Given the description of an element on the screen output the (x, y) to click on. 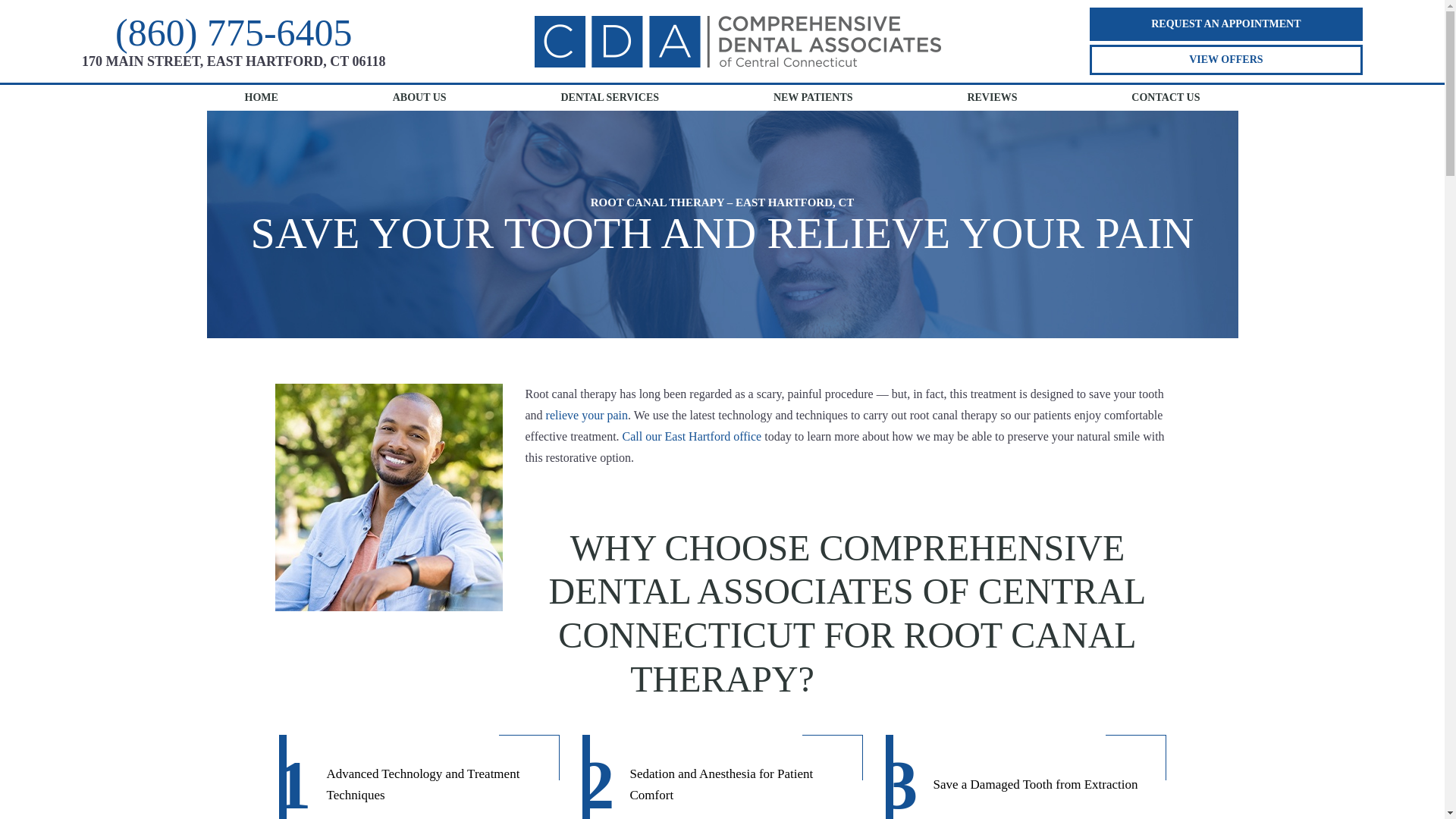
VIEW OFFERS (1225, 60)
ABOUT US (419, 97)
About Us (419, 97)
170 MAIN STREET, EAST HARTFORD, CT 06118 (233, 61)
REQUEST AN APPOINTMENT (1225, 23)
Dental Services (609, 97)
DENTAL SERVICES (609, 97)
Dentist East Hartford, CT (260, 97)
HOME (260, 97)
